Given the description of an element on the screen output the (x, y) to click on. 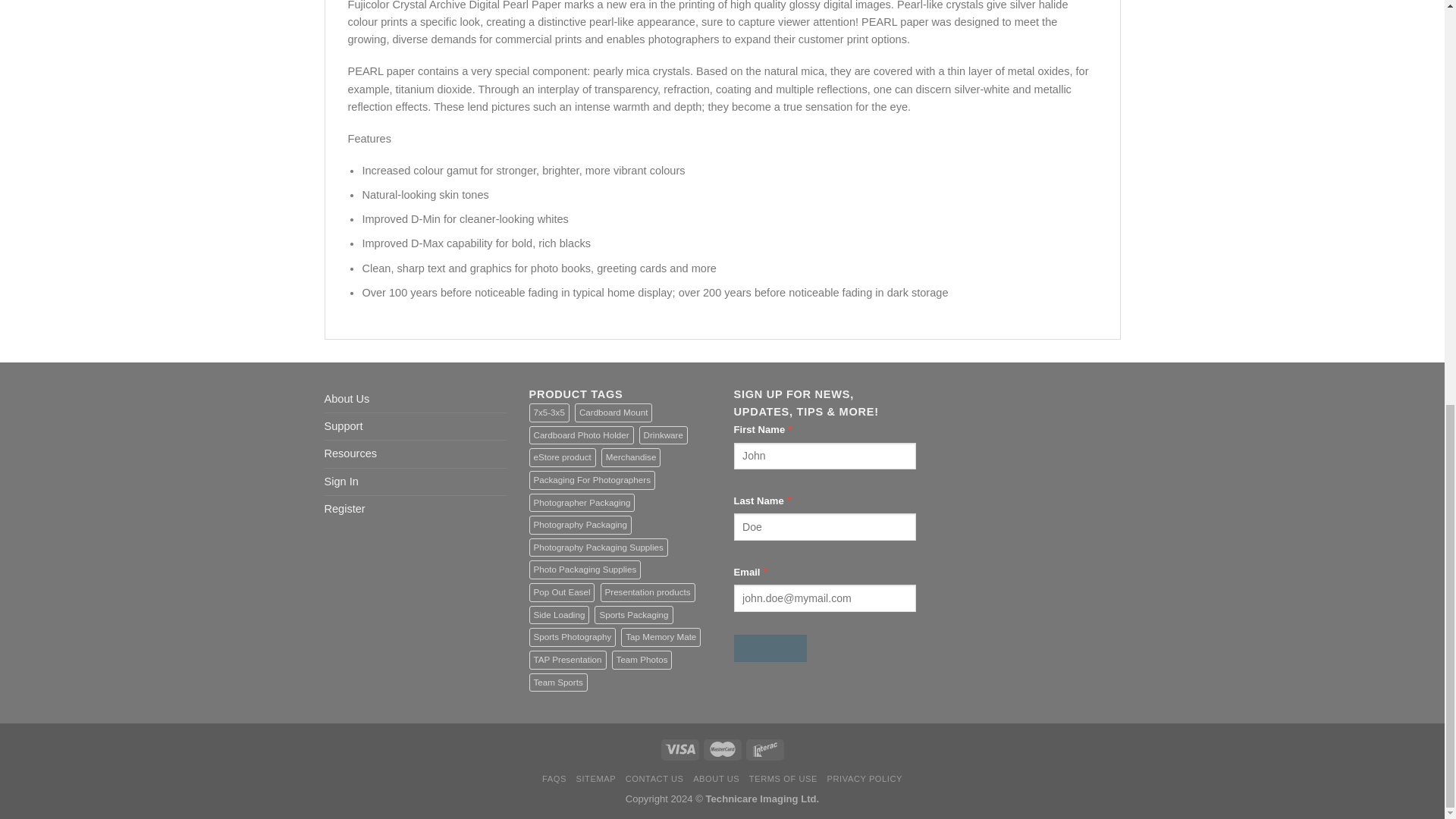
Sign up (770, 647)
